Given the description of an element on the screen output the (x, y) to click on. 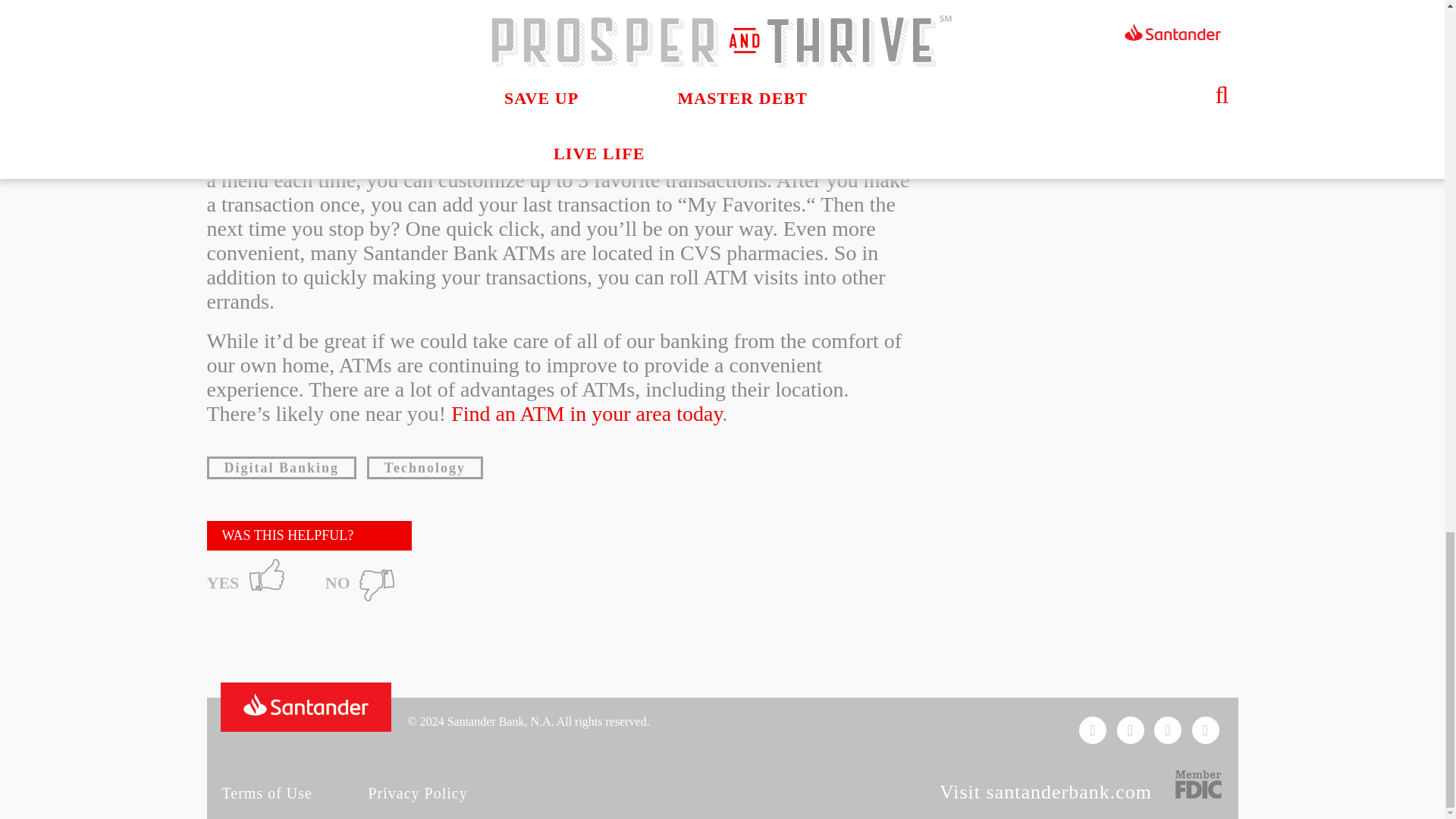
Digital Banking (281, 467)
YES (249, 580)
SUBMIT (1120, 73)
Find an ATM in your area today (586, 413)
Technology (424, 467)
NO (363, 580)
SUBMIT (1120, 73)
